Given the description of an element on the screen output the (x, y) to click on. 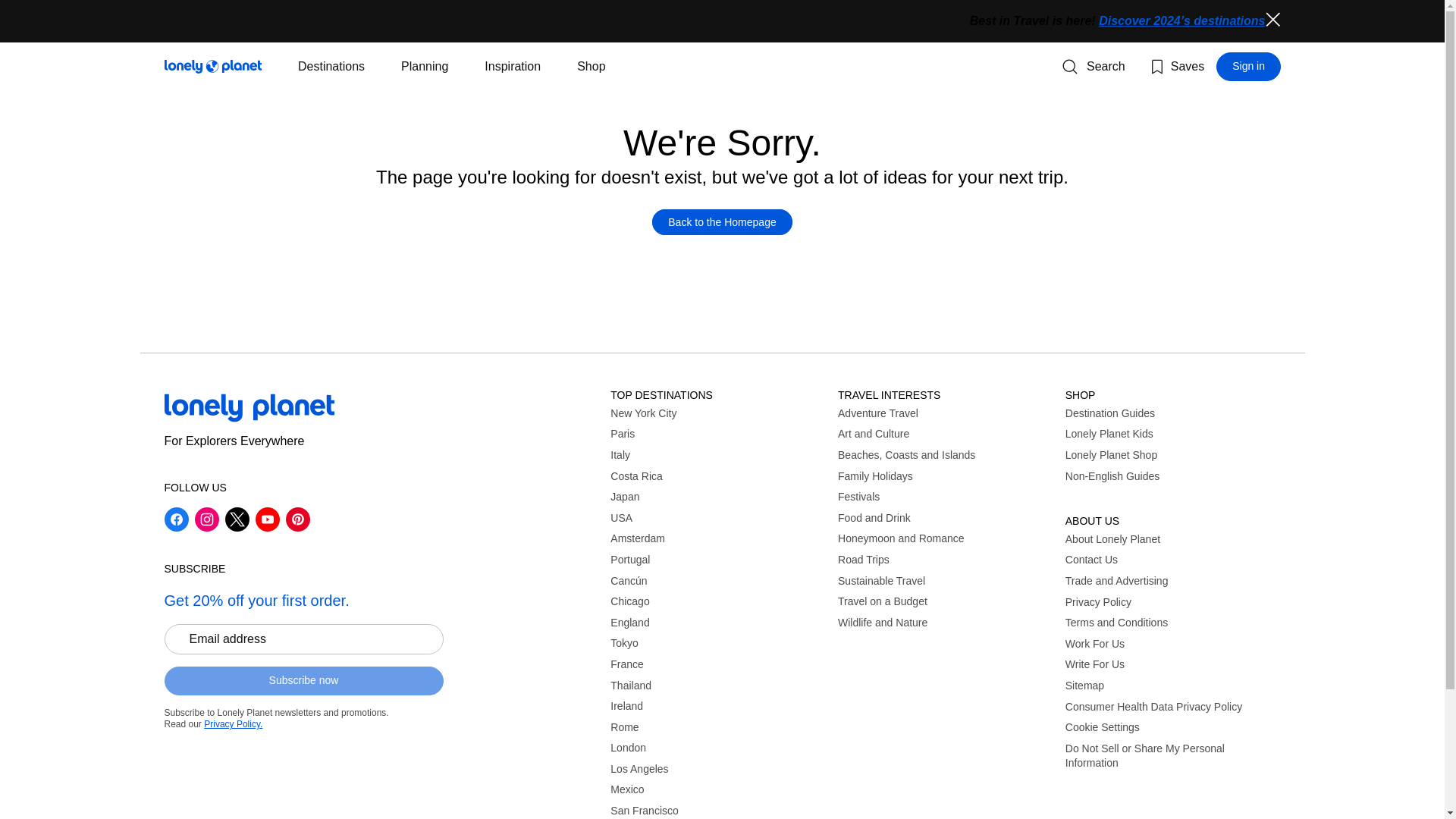
USA (717, 518)
Mexico (717, 789)
London (717, 748)
Privacy Policy. (232, 724)
TOP DESTINATIONS (717, 394)
Destinations (330, 66)
Italy (717, 455)
Japan (717, 497)
Los Angeles (717, 769)
Portugal (717, 560)
Chicago (717, 601)
Ireland (717, 706)
Inspiration (512, 66)
New York City (717, 413)
Back to the Homepage (722, 222)
